Given the description of an element on the screen output the (x, y) to click on. 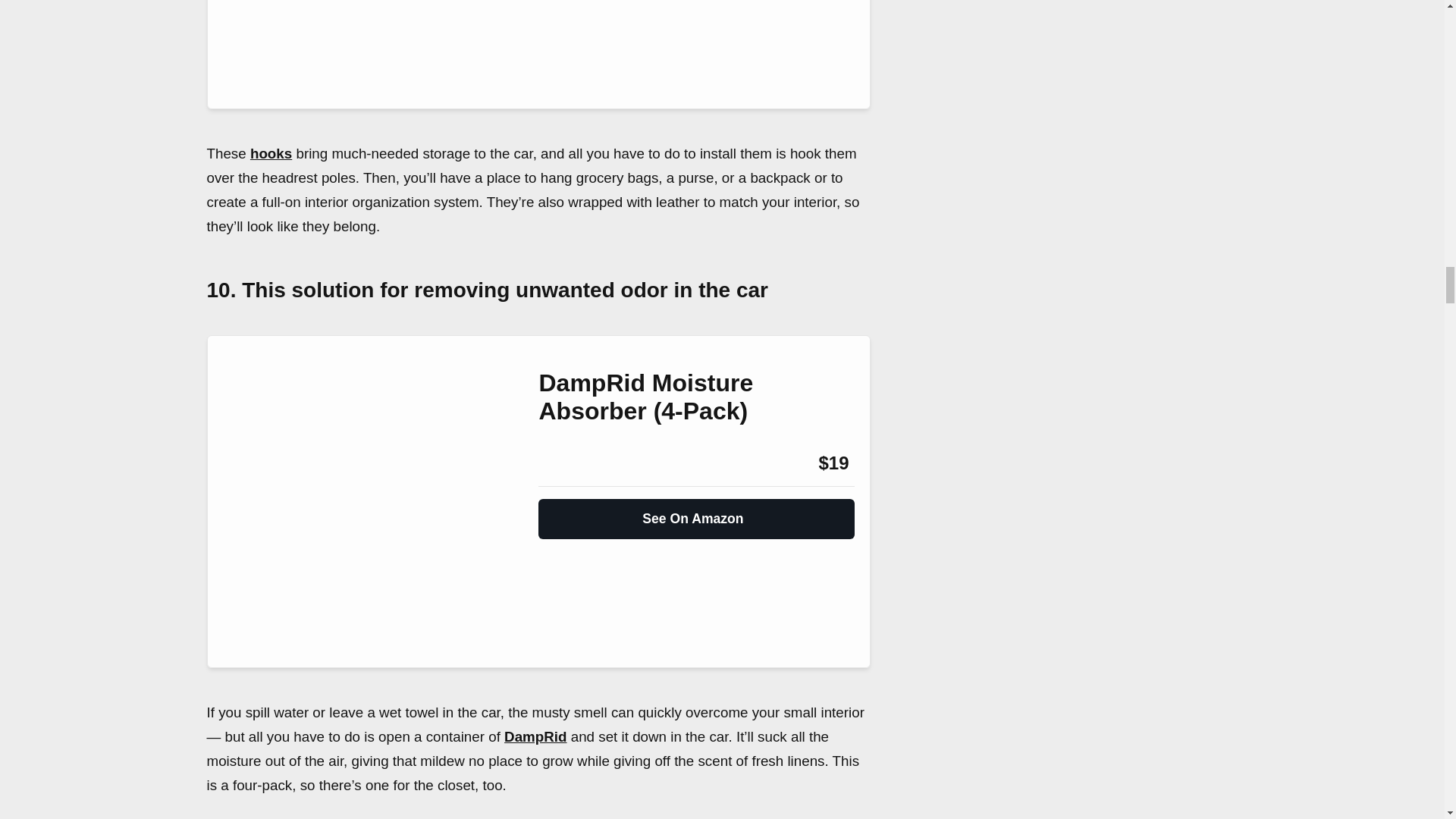
Amazon (579, 463)
